Given the description of an element on the screen output the (x, y) to click on. 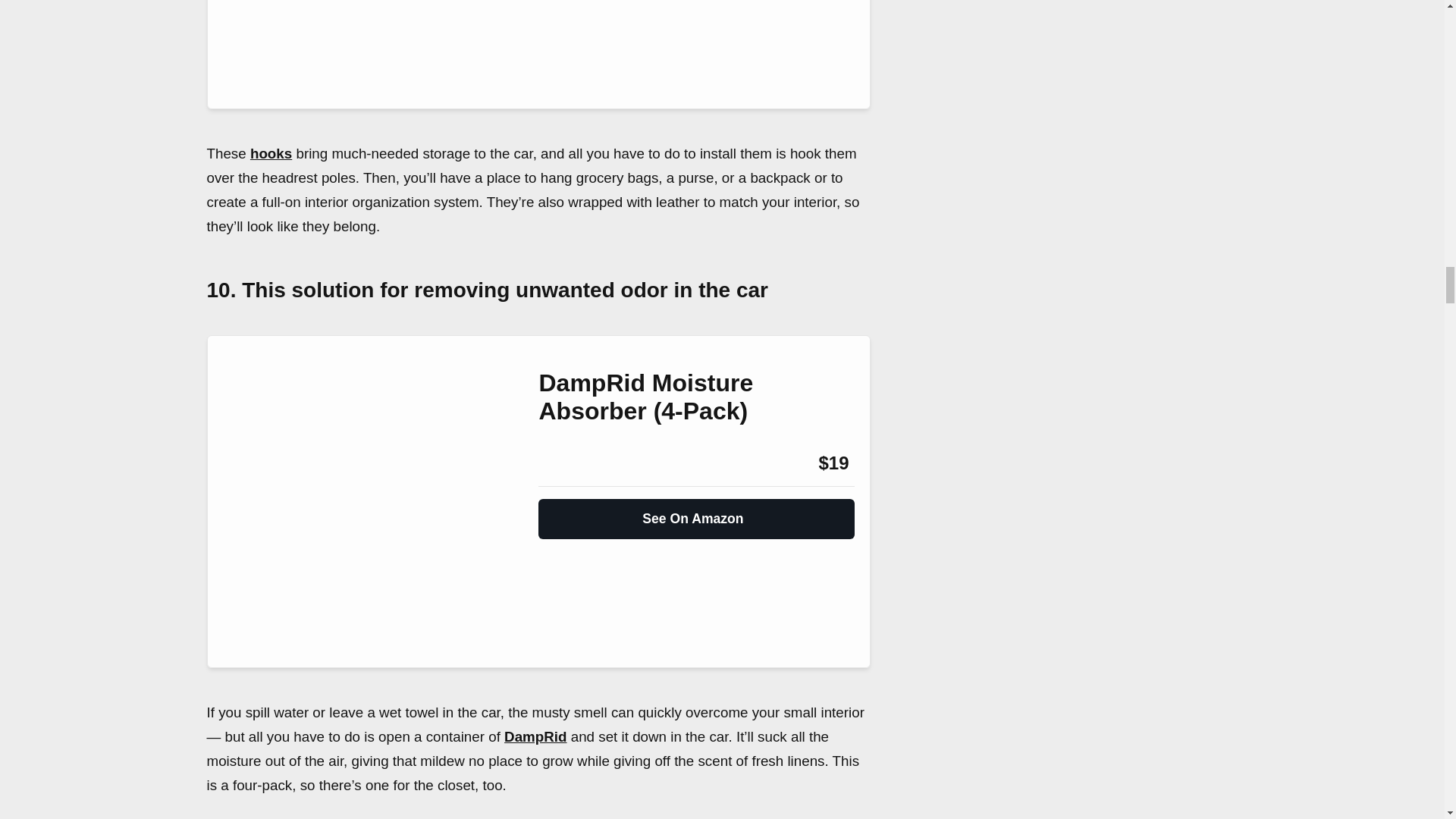
Amazon (579, 463)
